Given the description of an element on the screen output the (x, y) to click on. 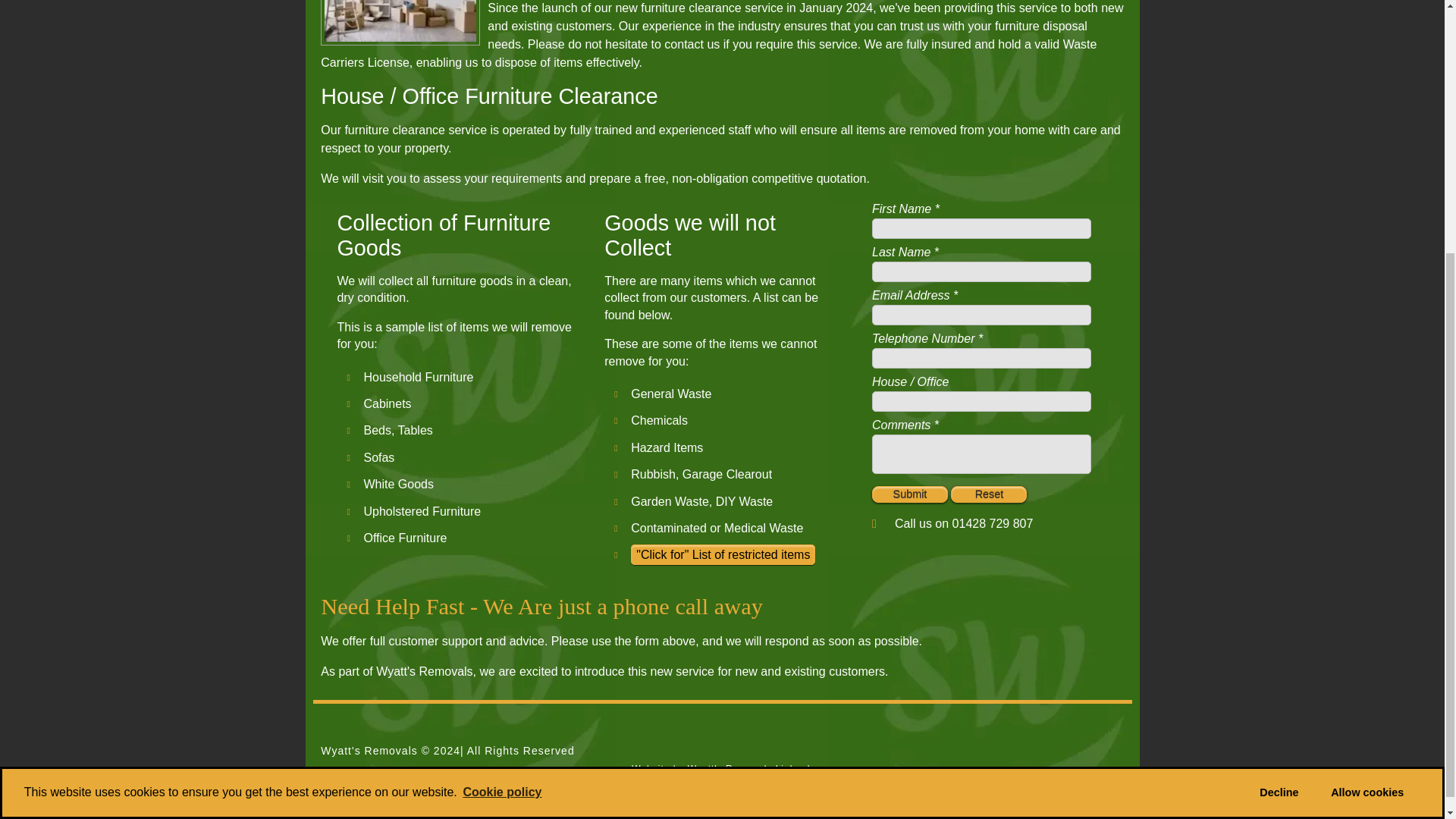
Cookie Policy (356, 787)
Decline (1278, 427)
Privacy Policy (442, 787)
Submit (909, 494)
Reset (988, 494)
Allow cookies (1367, 427)
Submit (909, 494)
"Click for" List of restricted items (722, 554)
